Given the description of an element on the screen output the (x, y) to click on. 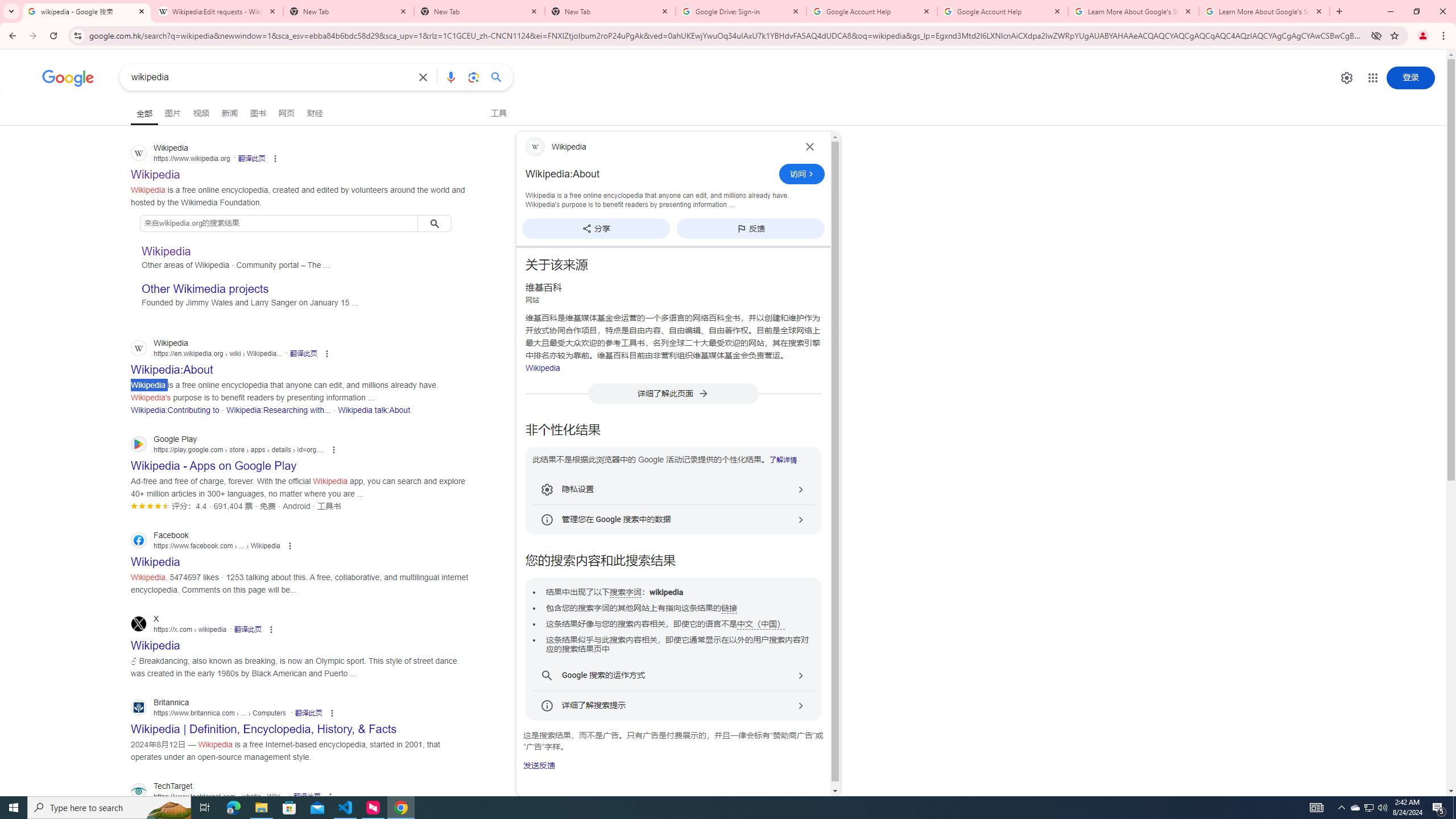
Wikipedia (542, 367)
New Tab (610, 11)
